Given the description of an element on the screen output the (x, y) to click on. 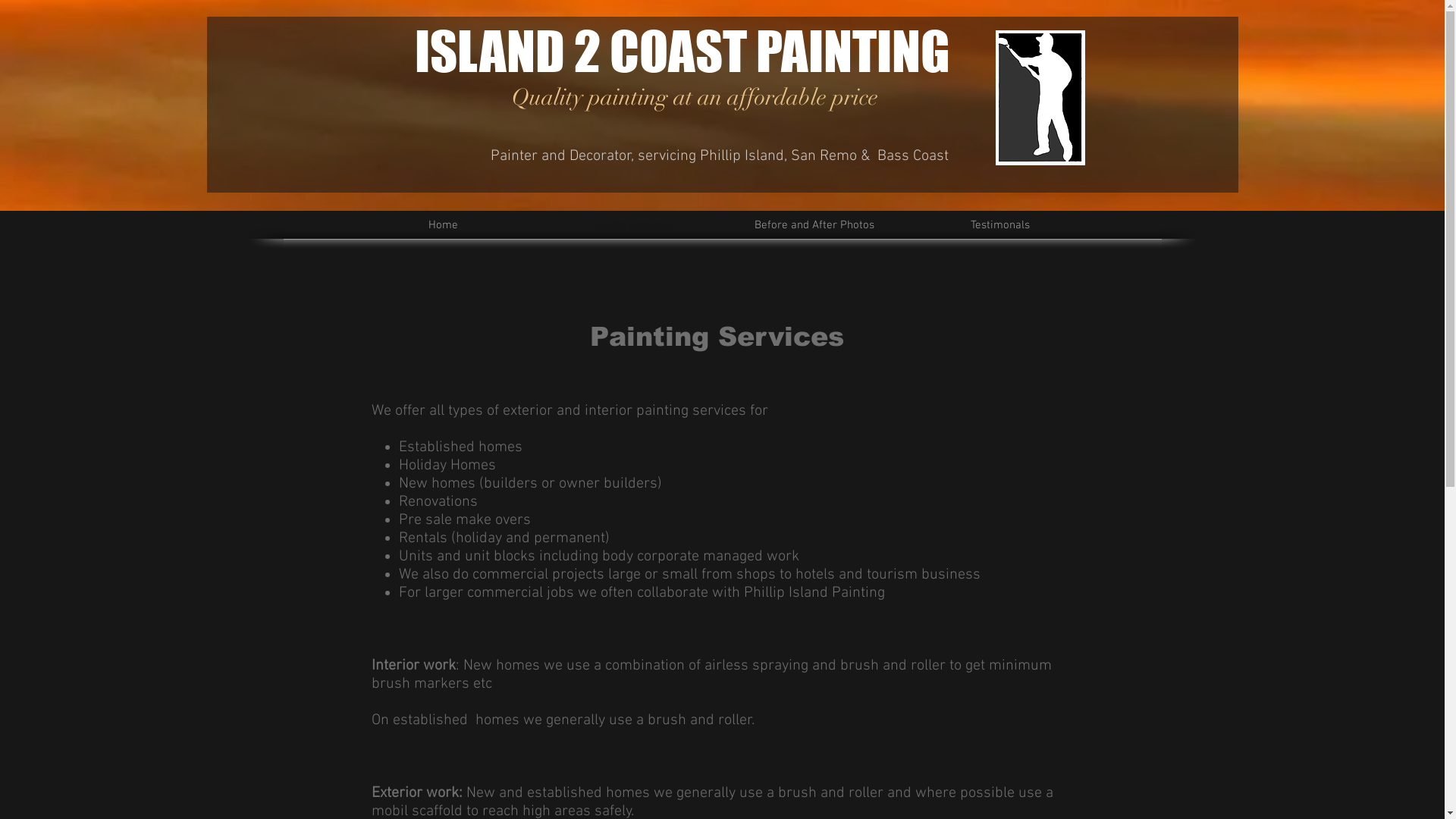
Home Element type: text (443, 225)
ISLAND 2 COAST PAINTING Element type: text (681, 50)
Painting services Element type: text (628, 225)
Before and After Photos Element type: text (814, 225)
Testimonals Element type: text (999, 225)
